Given the description of an element on the screen output the (x, y) to click on. 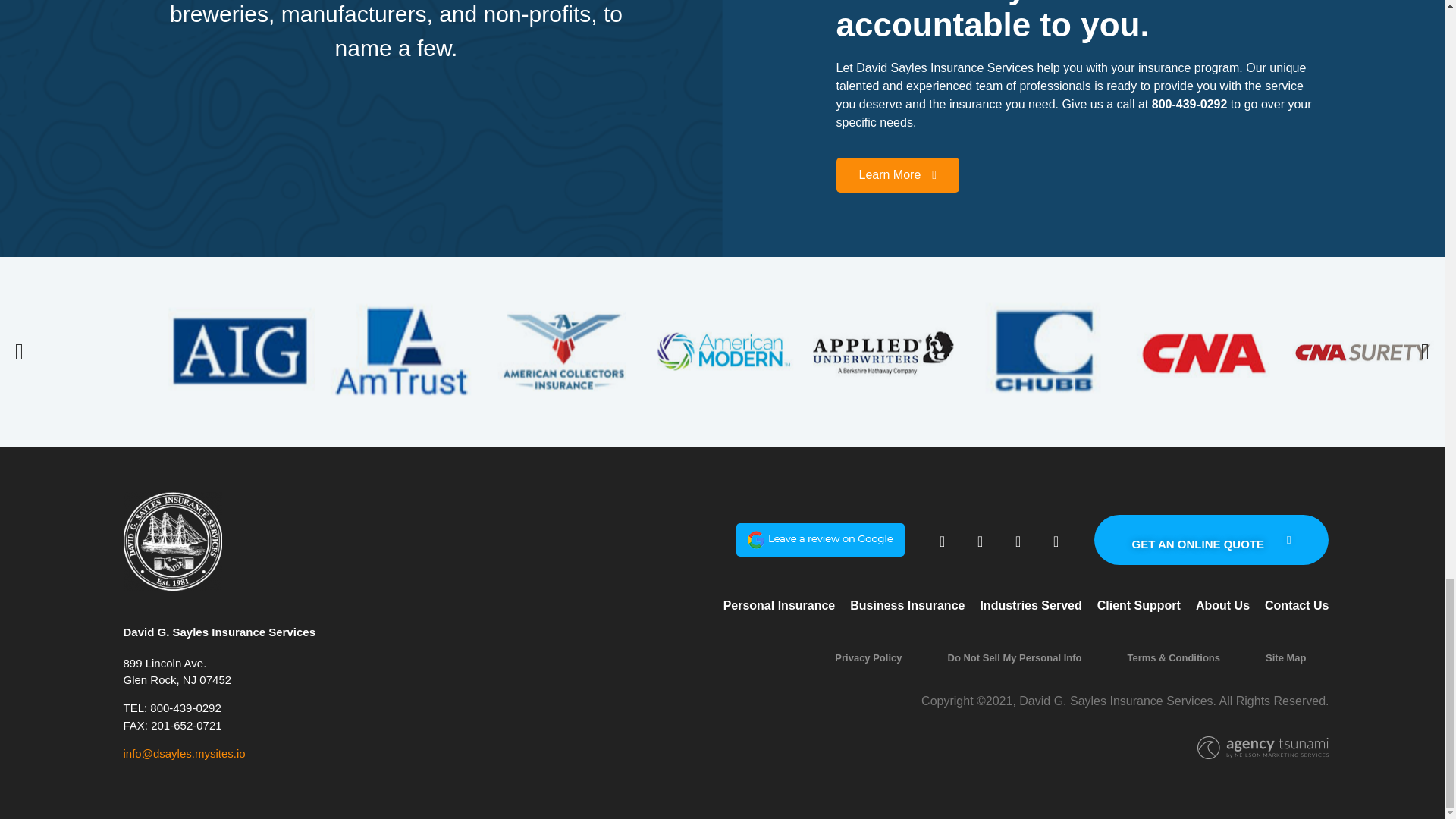
dsayles logo (171, 541)
